Given the description of an element on the screen output the (x, y) to click on. 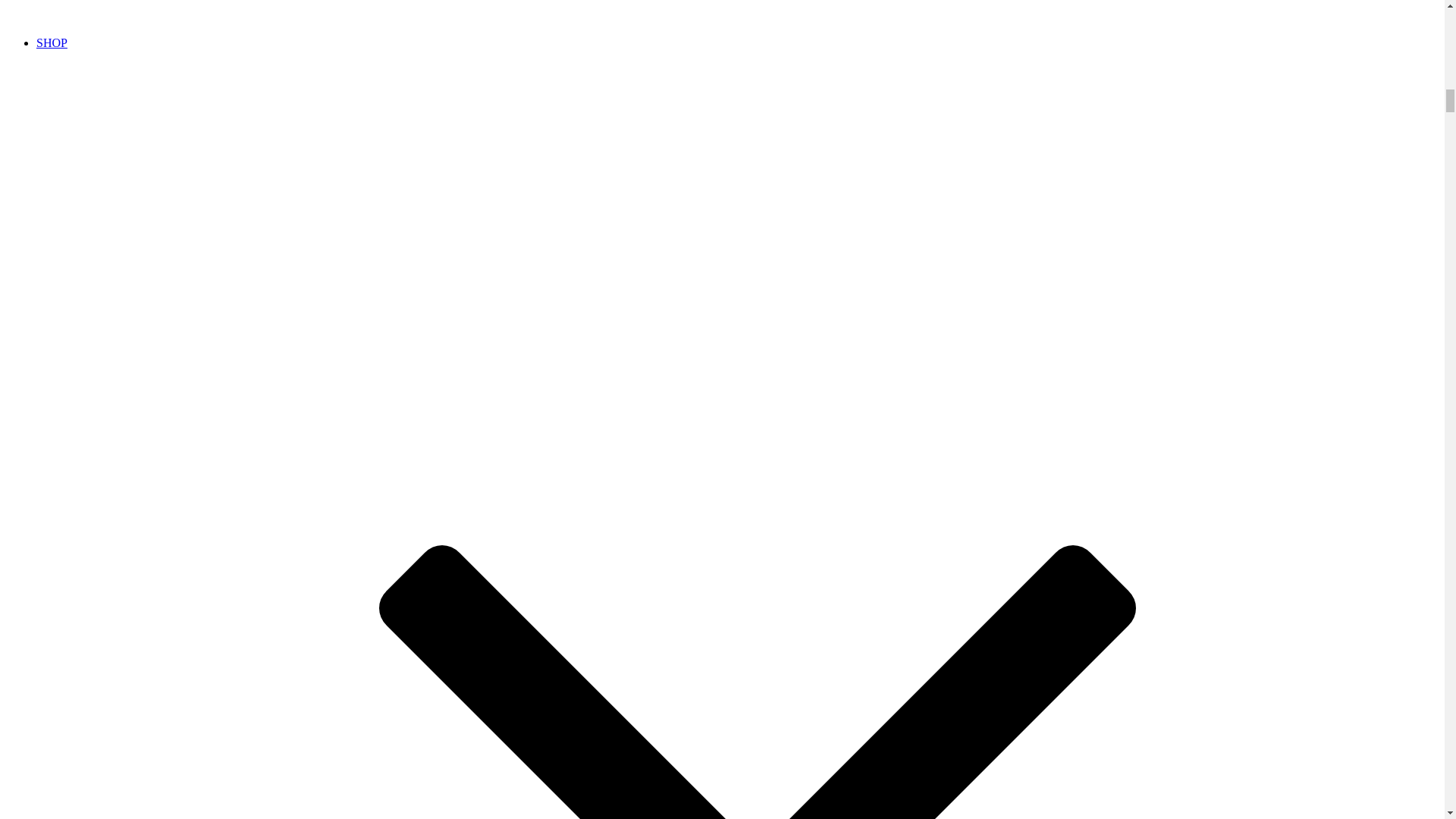
SHOP (51, 42)
